Given the description of an element on the screen output the (x, y) to click on. 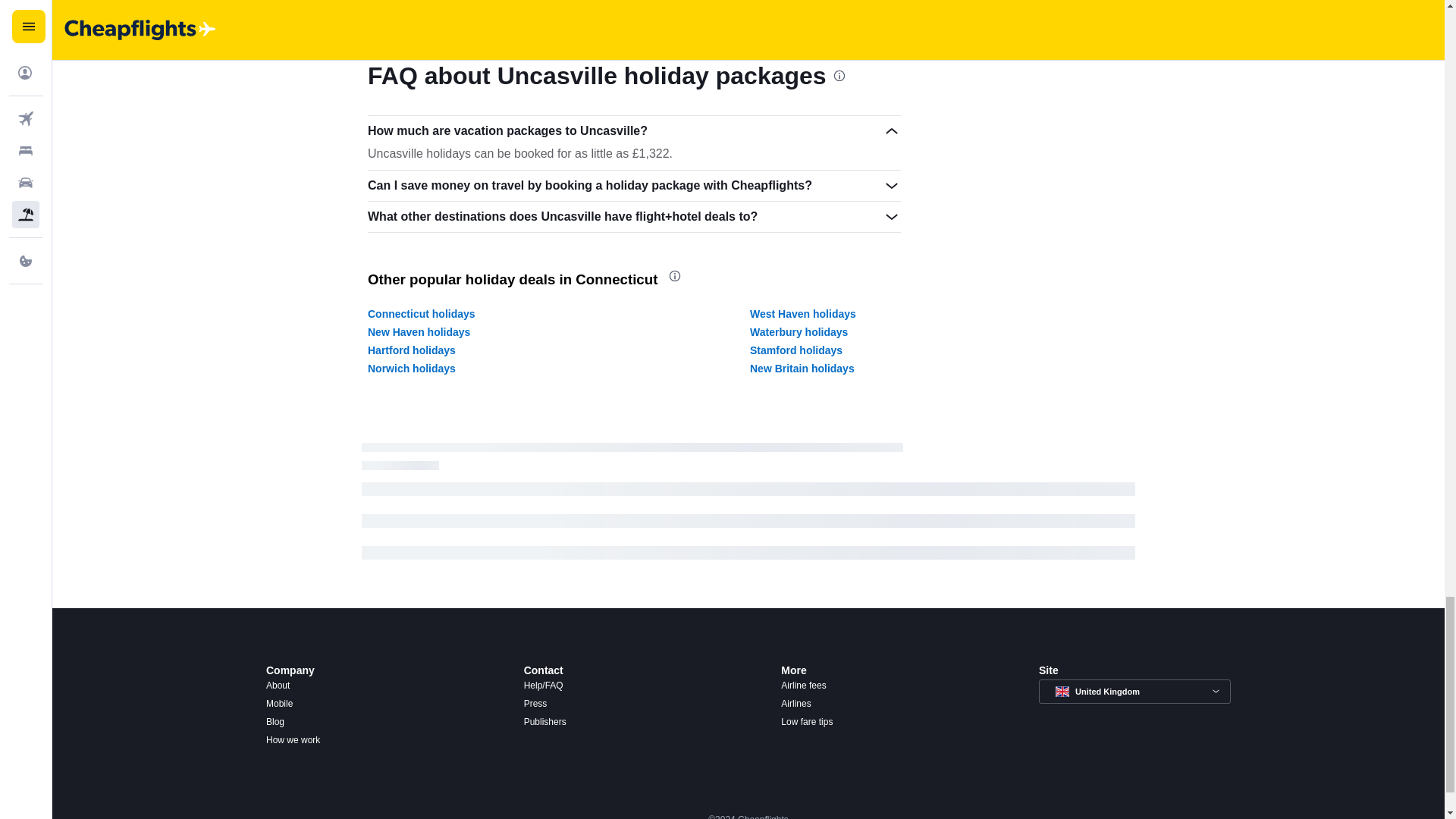
Stamford holidays (796, 349)
Waterbury holidays (798, 331)
New Haven holidays (419, 331)
Hartford holidays (411, 349)
Connecticut holidays (422, 313)
New Britain holidays (801, 368)
West Haven holidays (802, 313)
Norwich holidays (411, 368)
